Given the description of an element on the screen output the (x, y) to click on. 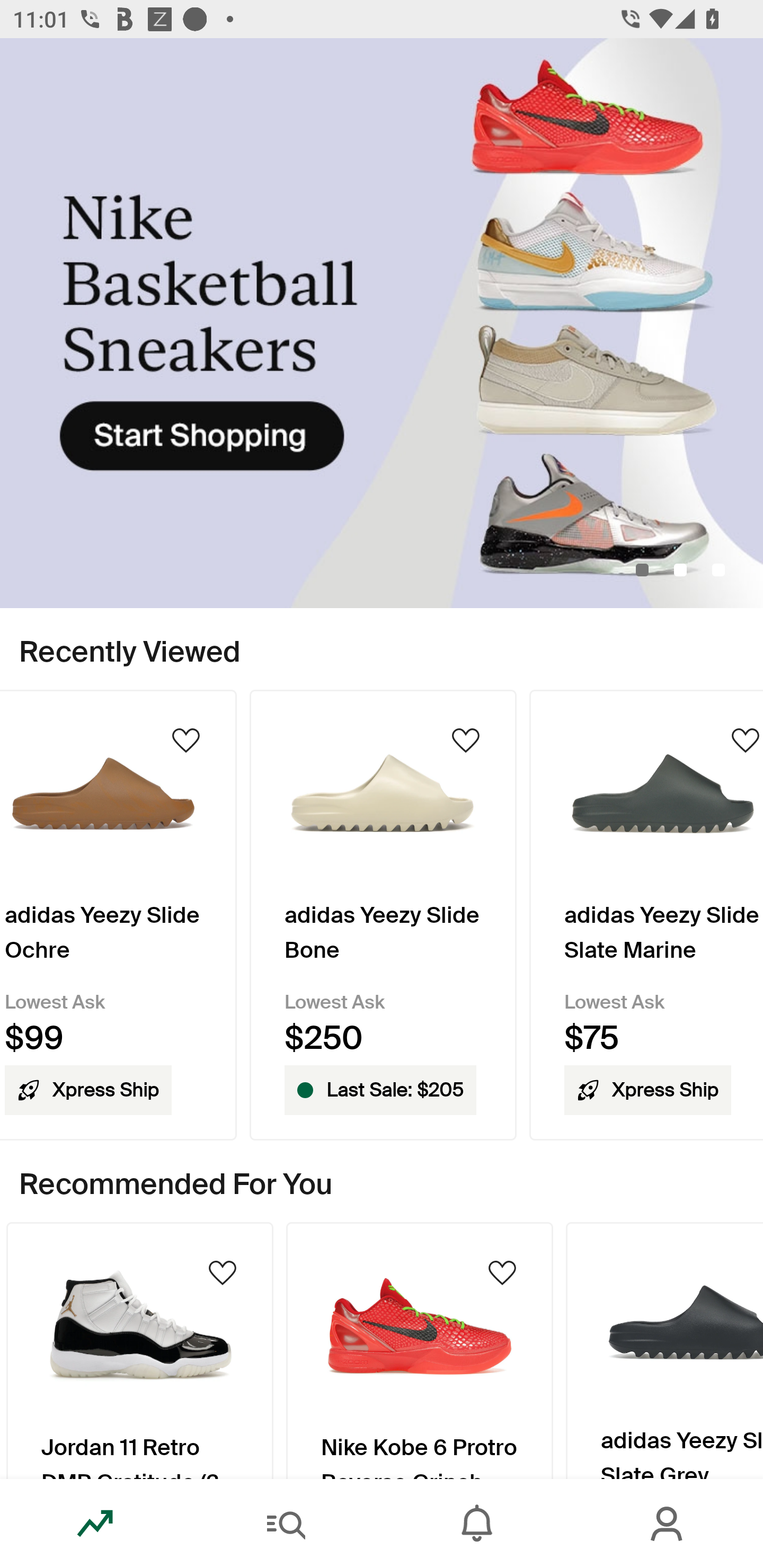
NikeBasketballSprint_Followup_Primary_Mobile.jpg (381, 322)
Product Image Jordan 11 Retro DMP Gratitude (2023) (139, 1349)
Product Image Nike Kobe 6 Protro Reverse Grinch (419, 1349)
Product Image adidas Yeezy Slide Slate Grey (664, 1349)
Search (285, 1523)
Inbox (476, 1523)
Account (667, 1523)
